Given the description of an element on the screen output the (x, y) to click on. 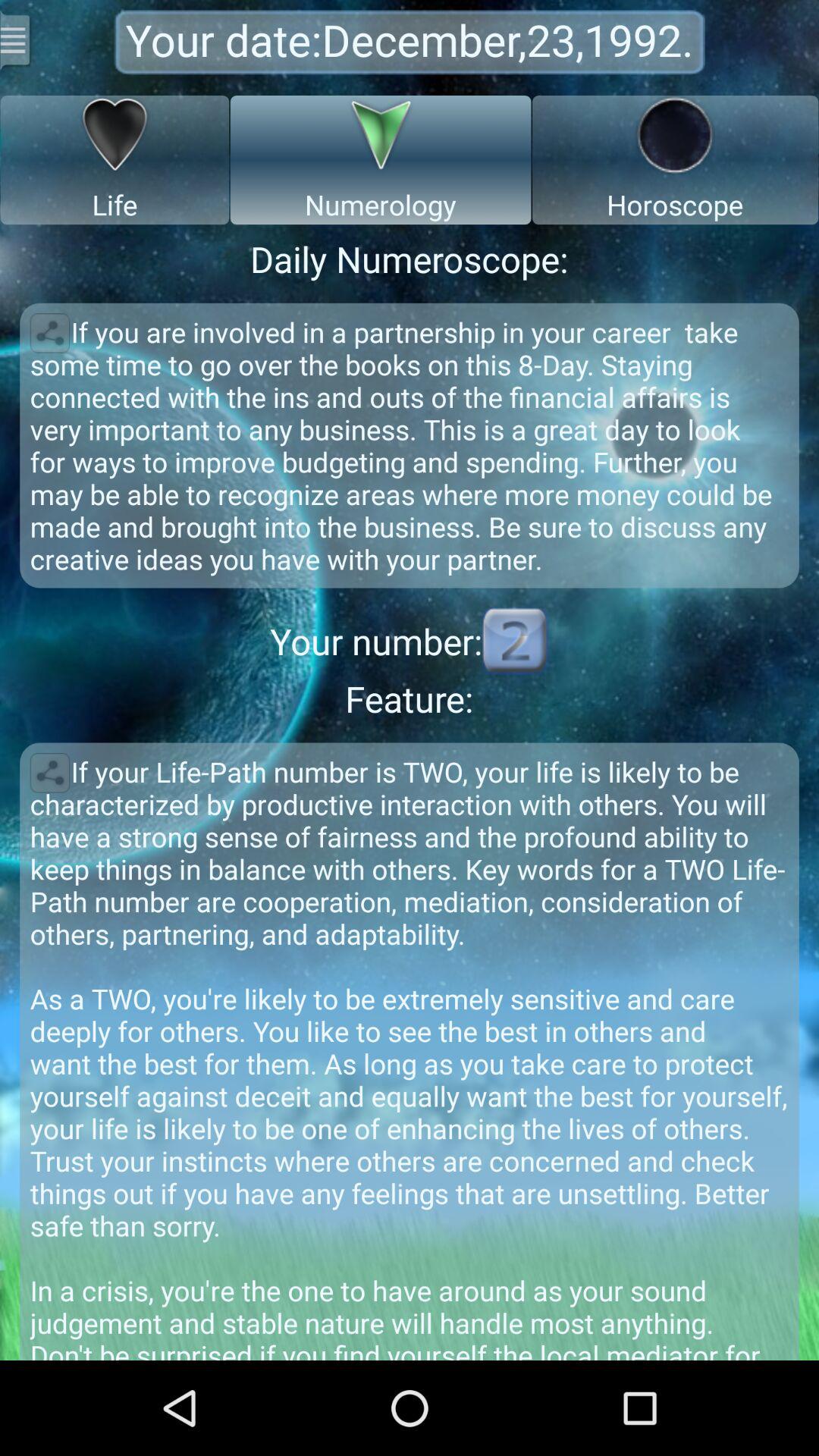
go to menu (17, 39)
